Given the description of an element on the screen output the (x, y) to click on. 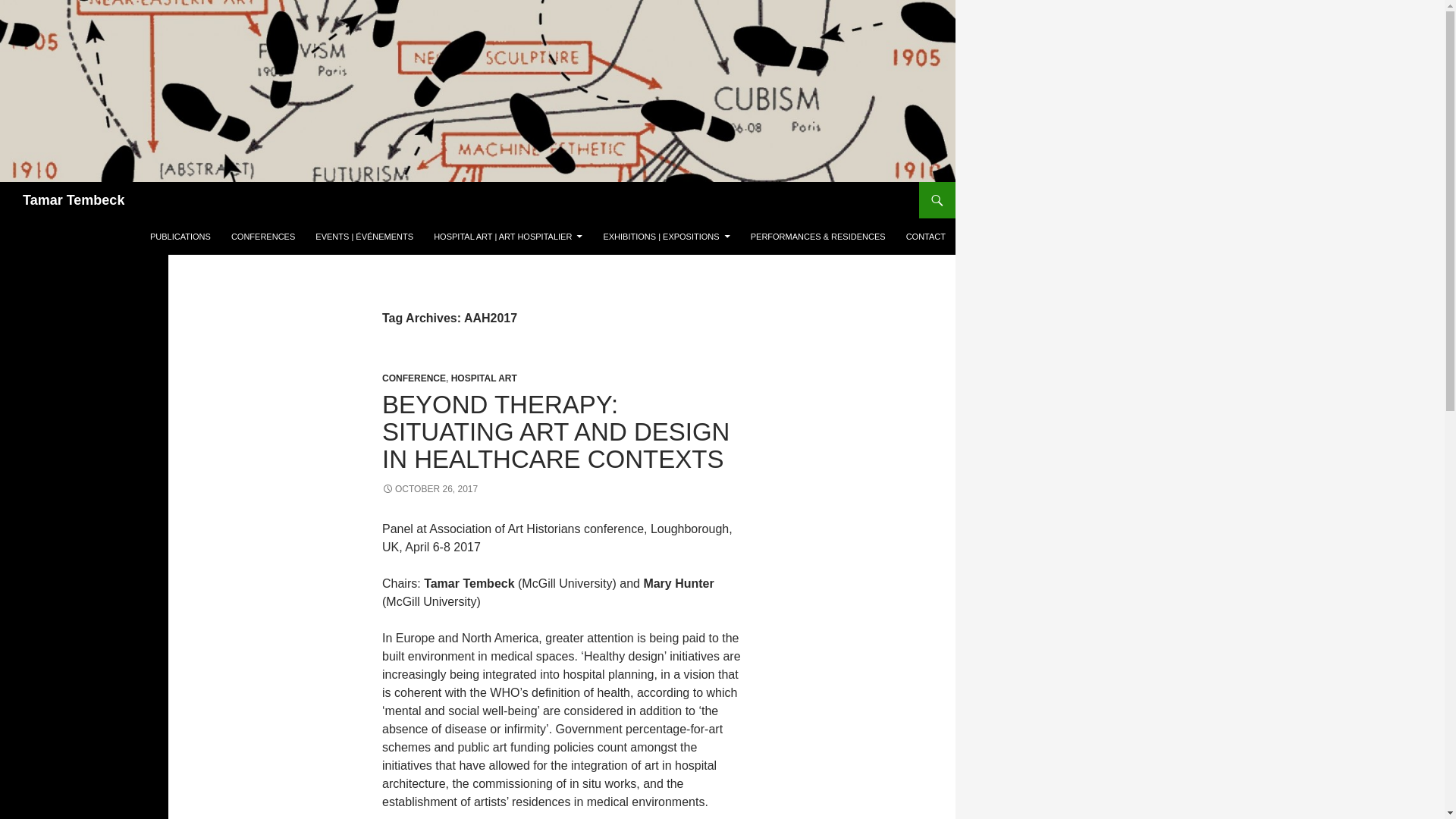
CONFERENCE (413, 378)
OCTOBER 26, 2017 (429, 489)
CONFERENCES (263, 236)
PUBLICATIONS (180, 236)
Tamar Tembeck (73, 199)
CONTACT (925, 236)
HOSPITAL ART (483, 378)
